Given the description of an element on the screen output the (x, y) to click on. 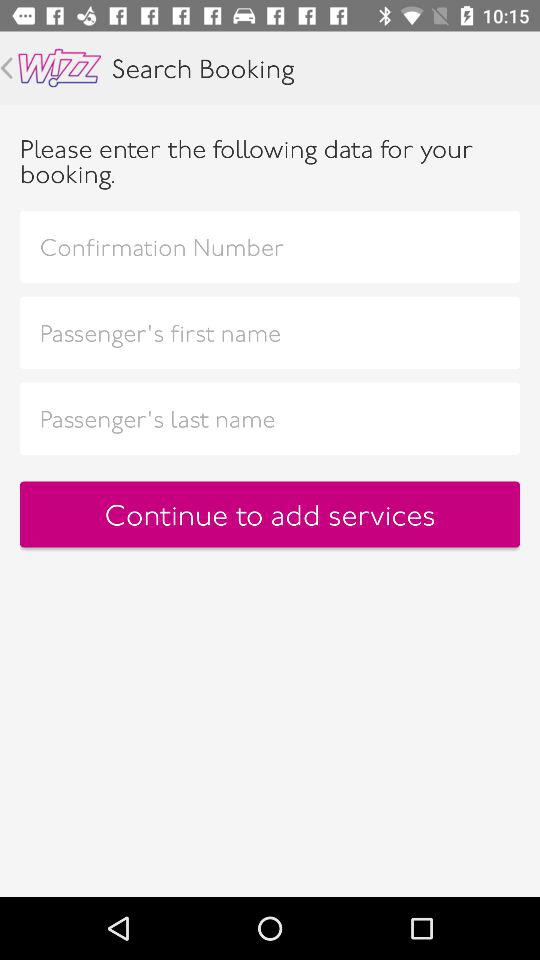
enter passenger name (269, 332)
